Given the description of an element on the screen output the (x, y) to click on. 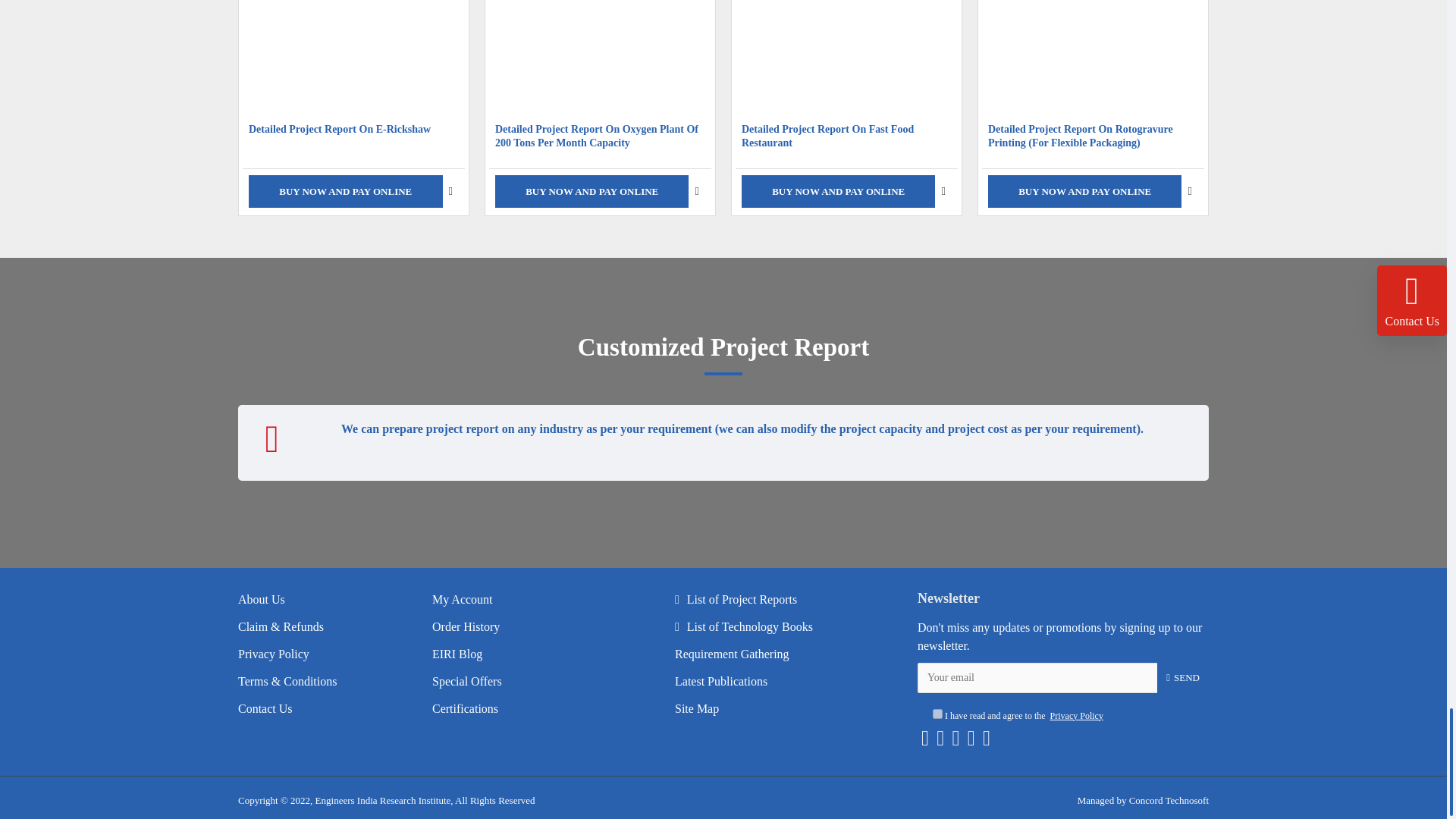
Detailed Project Report on E-Rickshaw (353, 58)
1 (937, 714)
